Given the description of an element on the screen output the (x, y) to click on. 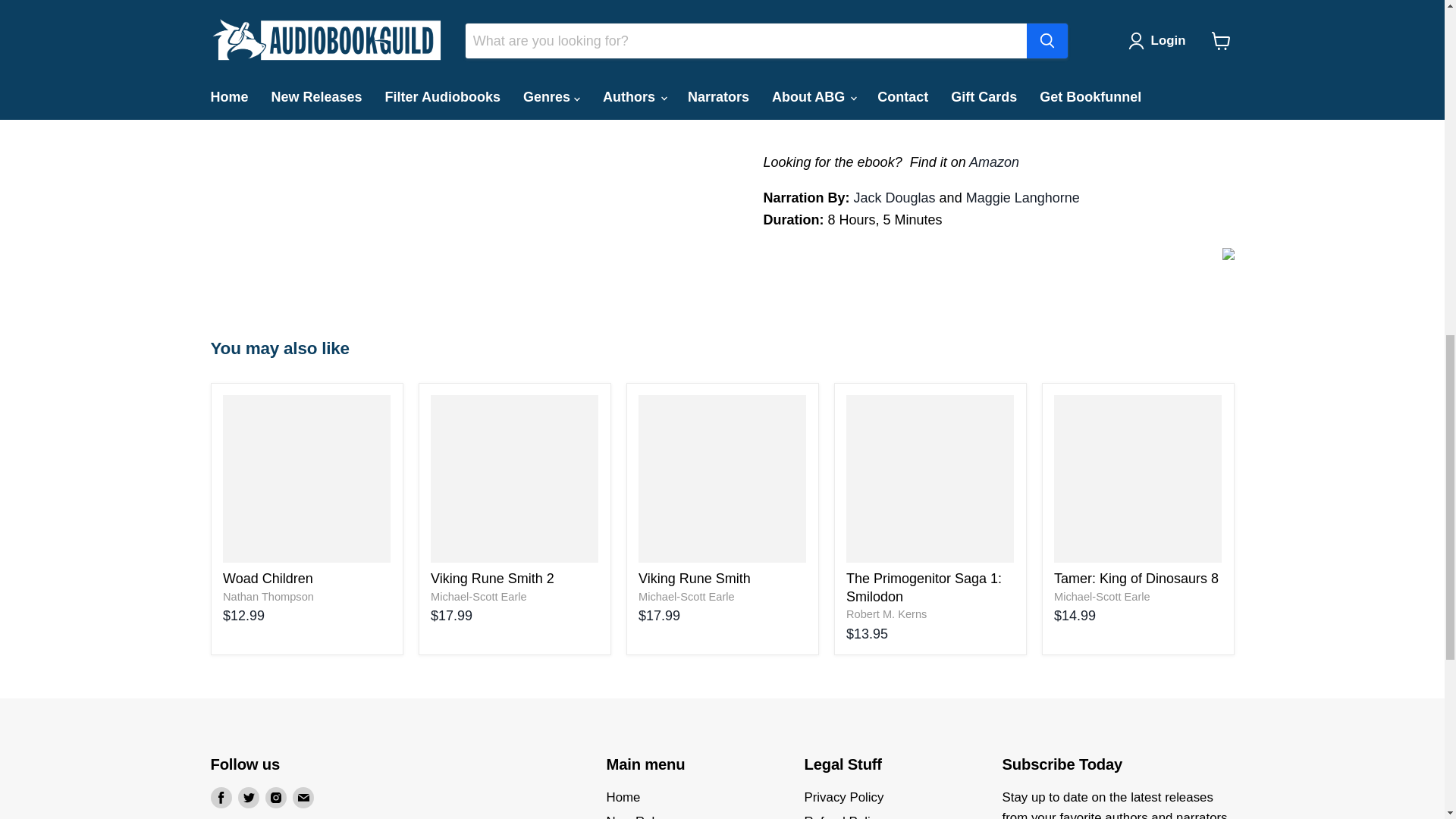
Robert M. Kerns (885, 613)
Facebook (221, 797)
Twitter (248, 797)
Michael-Scott Earle (1102, 596)
Michael-Scott Earle (478, 596)
Michael-Scott Earle (687, 596)
Nathan Thompson (268, 596)
